Given the description of an element on the screen output the (x, y) to click on. 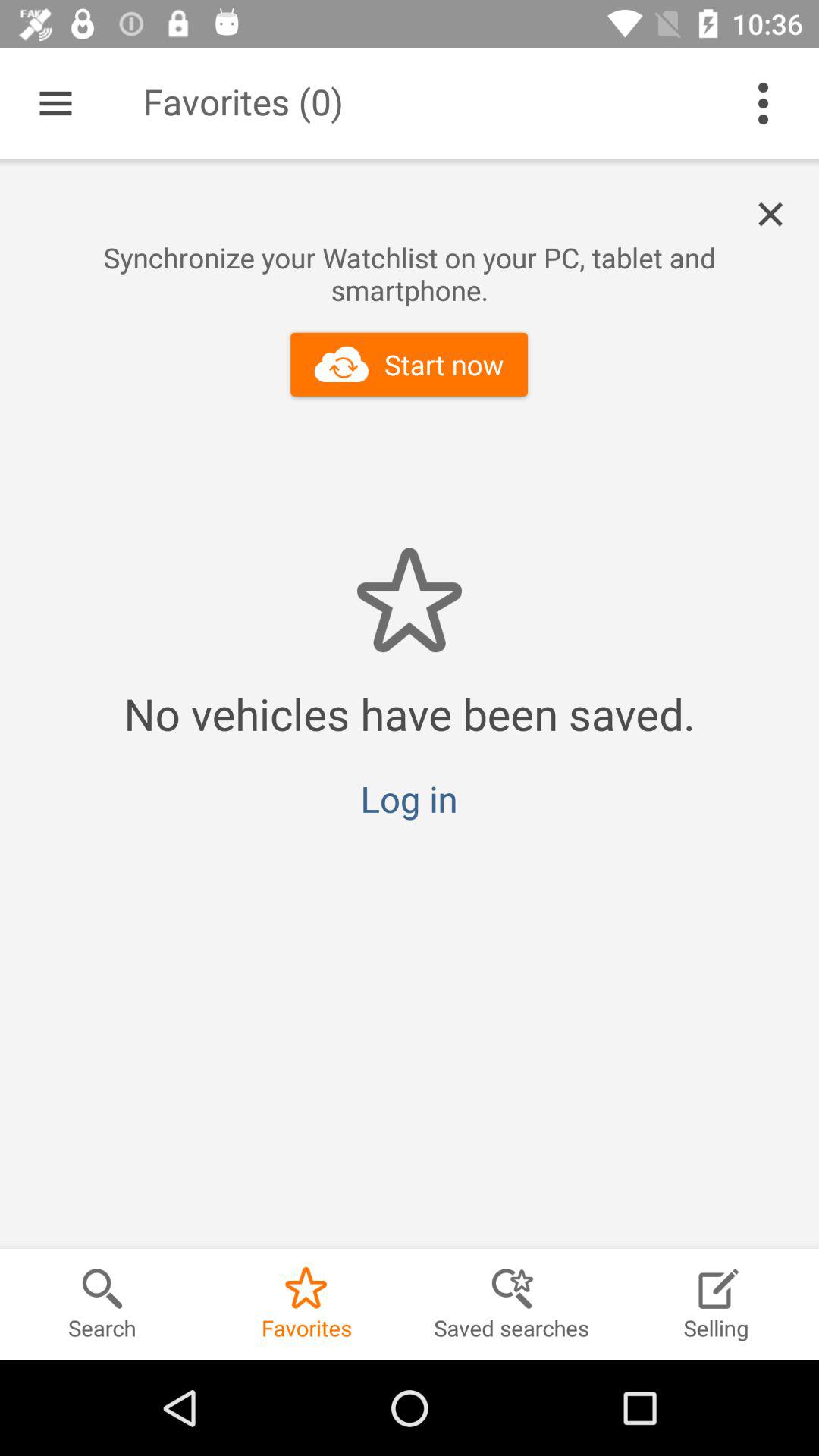
turn on item to the left of the favorites (0) icon (55, 103)
